Given the description of an element on the screen output the (x, y) to click on. 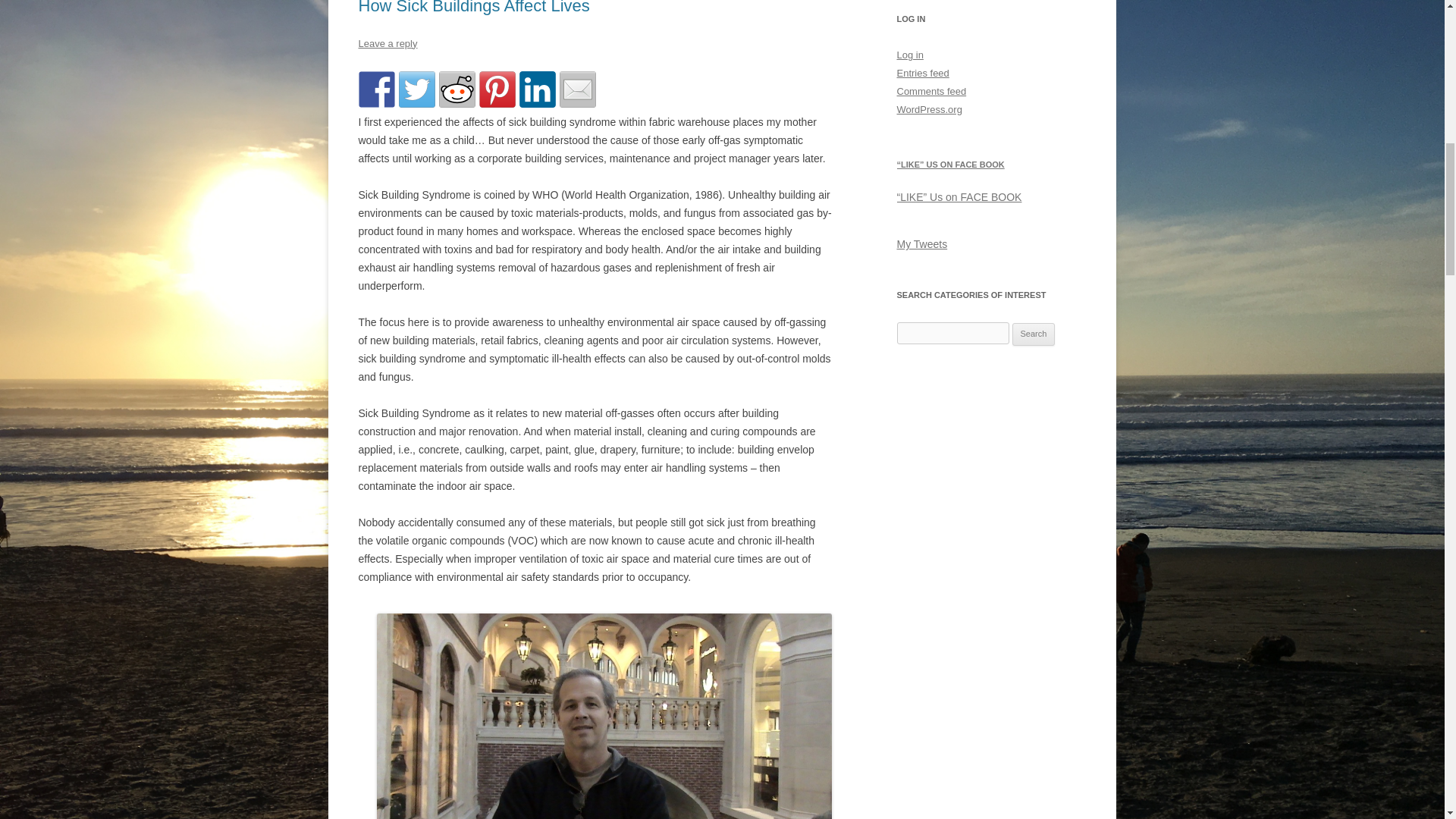
Share MirrorAthlete on Twitter (416, 89)
How Sick Buildings Affect Lives (473, 7)
Search (1033, 333)
Leave a reply (387, 43)
Share by email (577, 89)
Share on Linkedin (536, 89)
Share on Reddit (456, 89)
Share on Facebook (376, 89)
Pin it with Pinterest (497, 89)
